Given the description of an element on the screen output the (x, y) to click on. 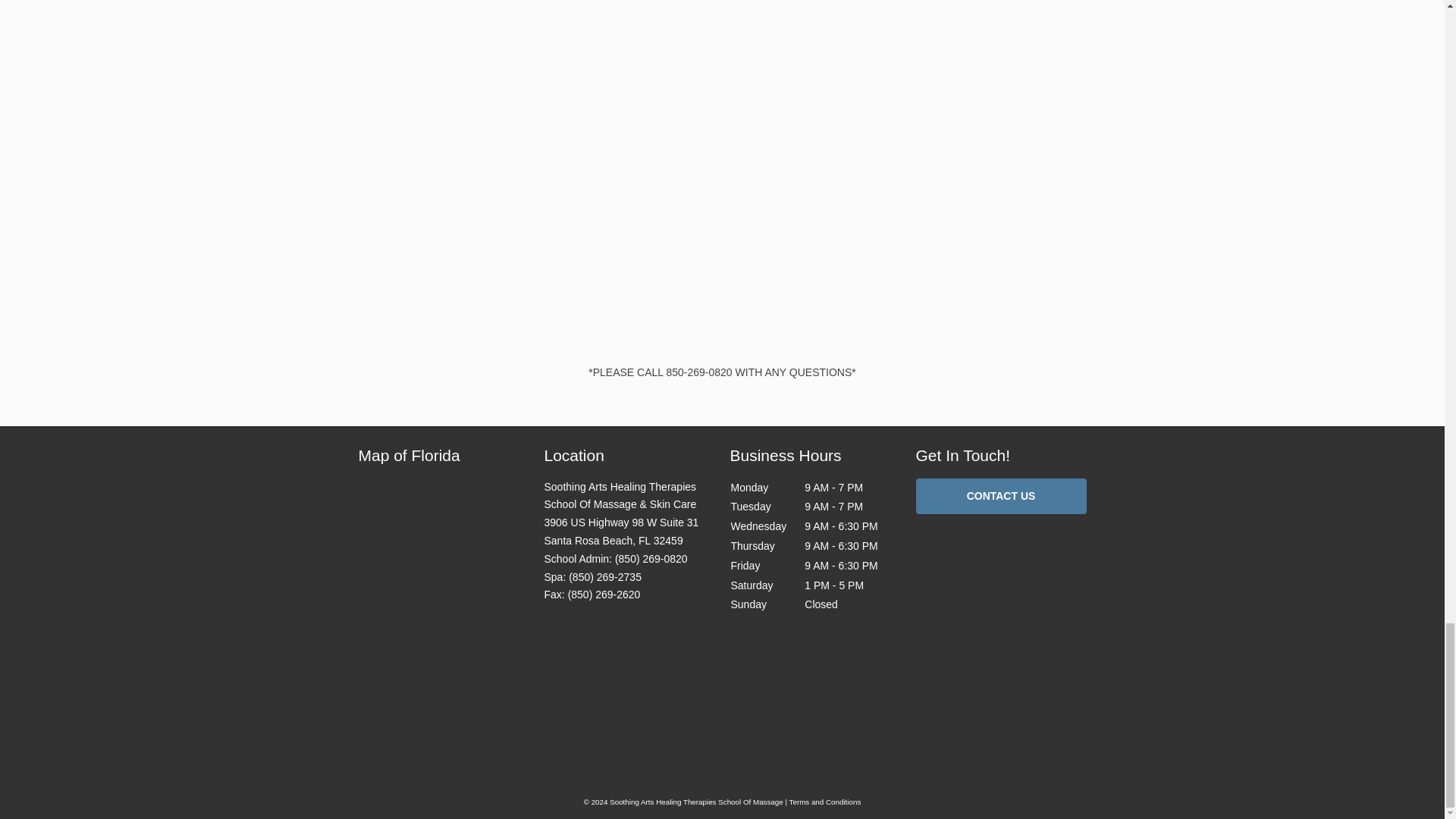
CONTACT US (1000, 496)
Click to open a larger map (621, 531)
Click to open a larger map (443, 657)
